Given the description of an element on the screen output the (x, y) to click on. 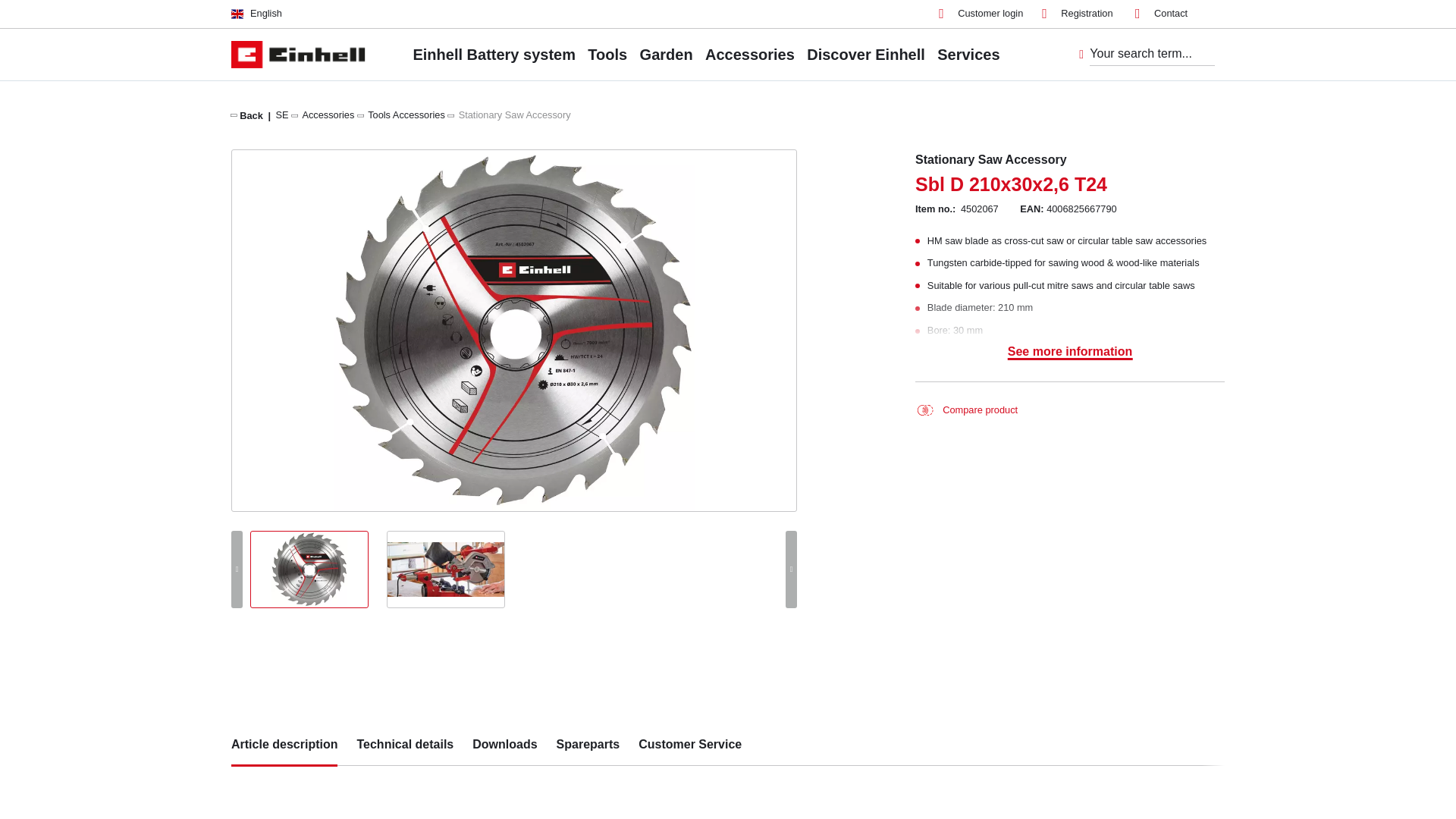
Accessories (327, 114)
Registration (1077, 13)
Einhell Battery system (493, 54)
SE (282, 114)
Customer login (981, 13)
Tools Accessories (406, 114)
Contact (1161, 13)
